Given the description of an element on the screen output the (x, y) to click on. 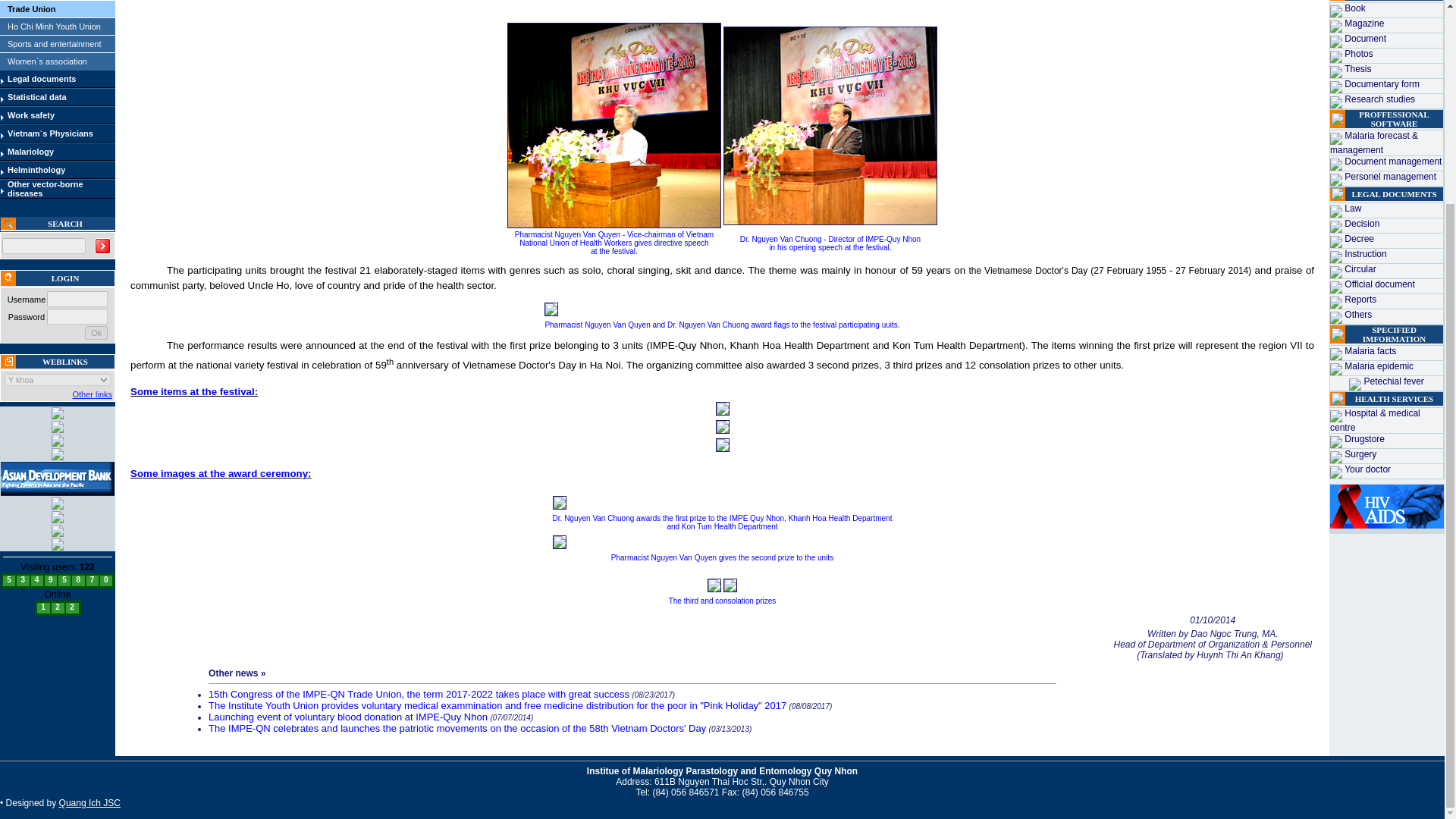
Other links (91, 393)
Ok (95, 332)
Ho Chi Minh Youth Union (53, 26)
SEARCH (65, 223)
Ok (95, 332)
LOGIN (65, 277)
Other vector-borne diseases (44, 188)
Work safety (31, 114)
Trade Union (31, 8)
Sports and entertainment (54, 43)
Statistical data (36, 96)
Malariology (30, 151)
WEBLINKS (64, 361)
Legal documents (41, 78)
Helminthology (36, 169)
